Given the description of an element on the screen output the (x, y) to click on. 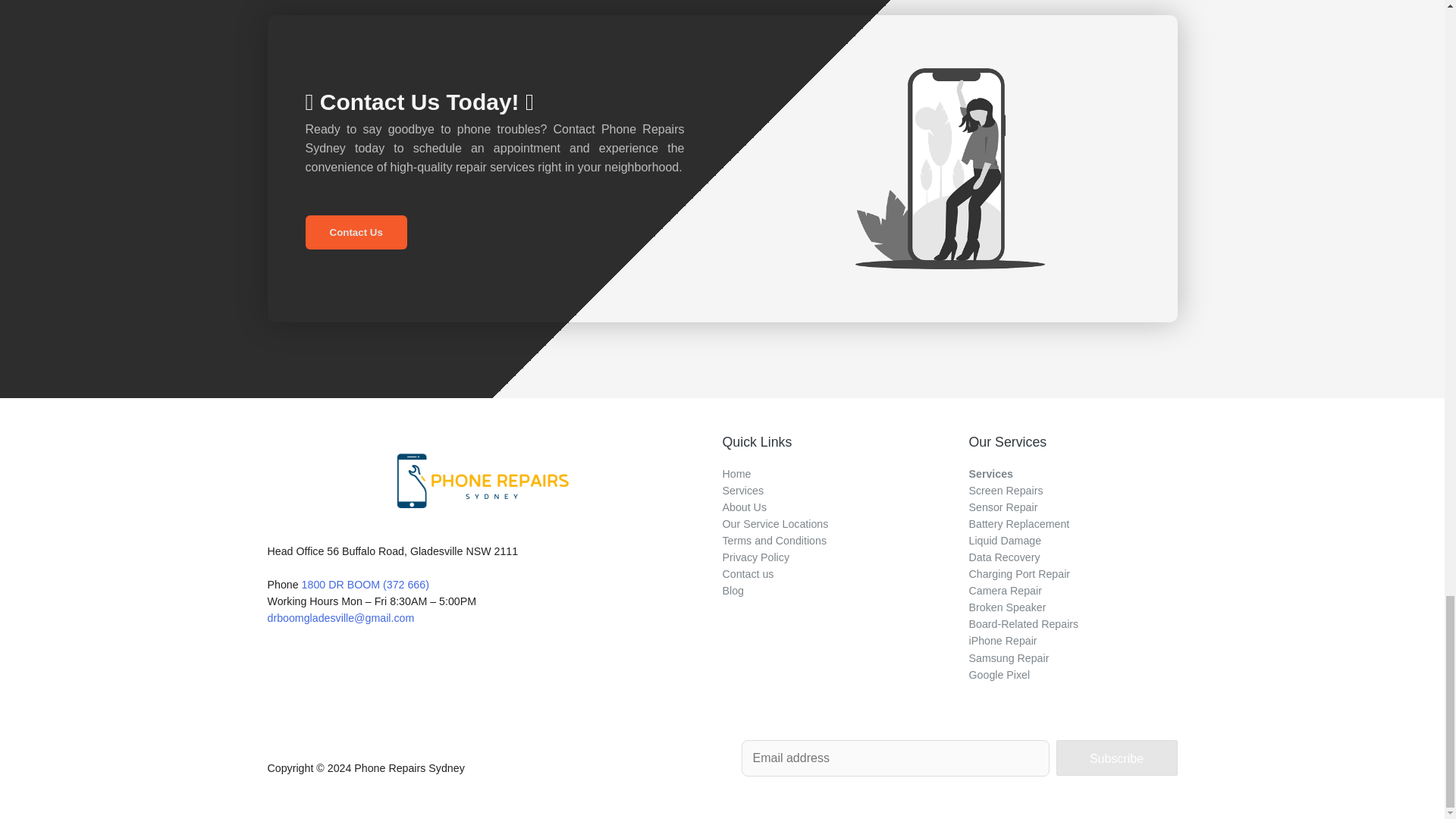
Contact Us (355, 232)
